Given the description of an element on the screen output the (x, y) to click on. 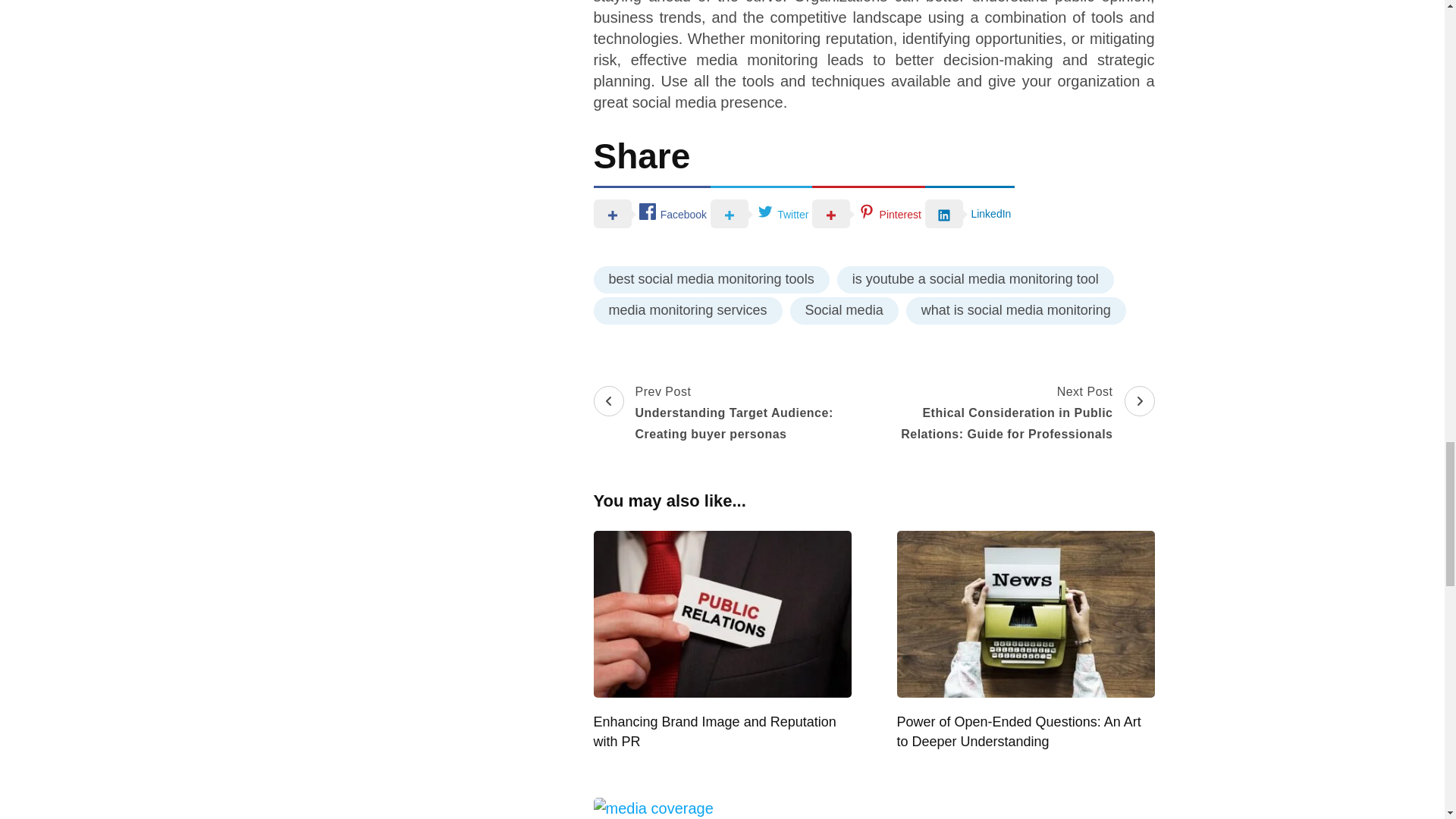
Twitter (761, 212)
Pinterest (868, 212)
best social media monitoring tools (710, 279)
LinkedIn (969, 212)
Facebook (651, 212)
